Given the description of an element on the screen output the (x, y) to click on. 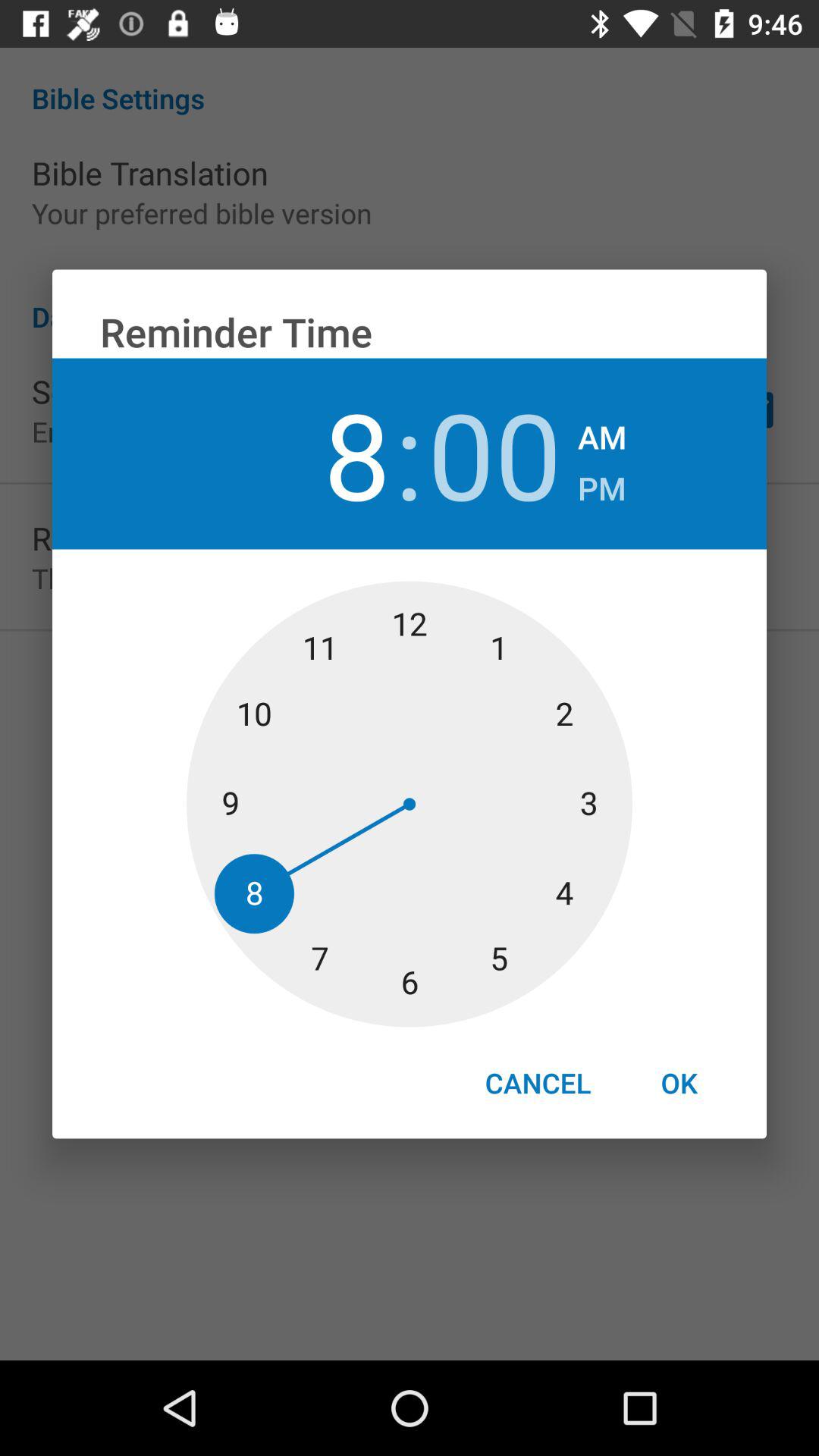
turn on cancel button (538, 1082)
